Given the description of an element on the screen output the (x, y) to click on. 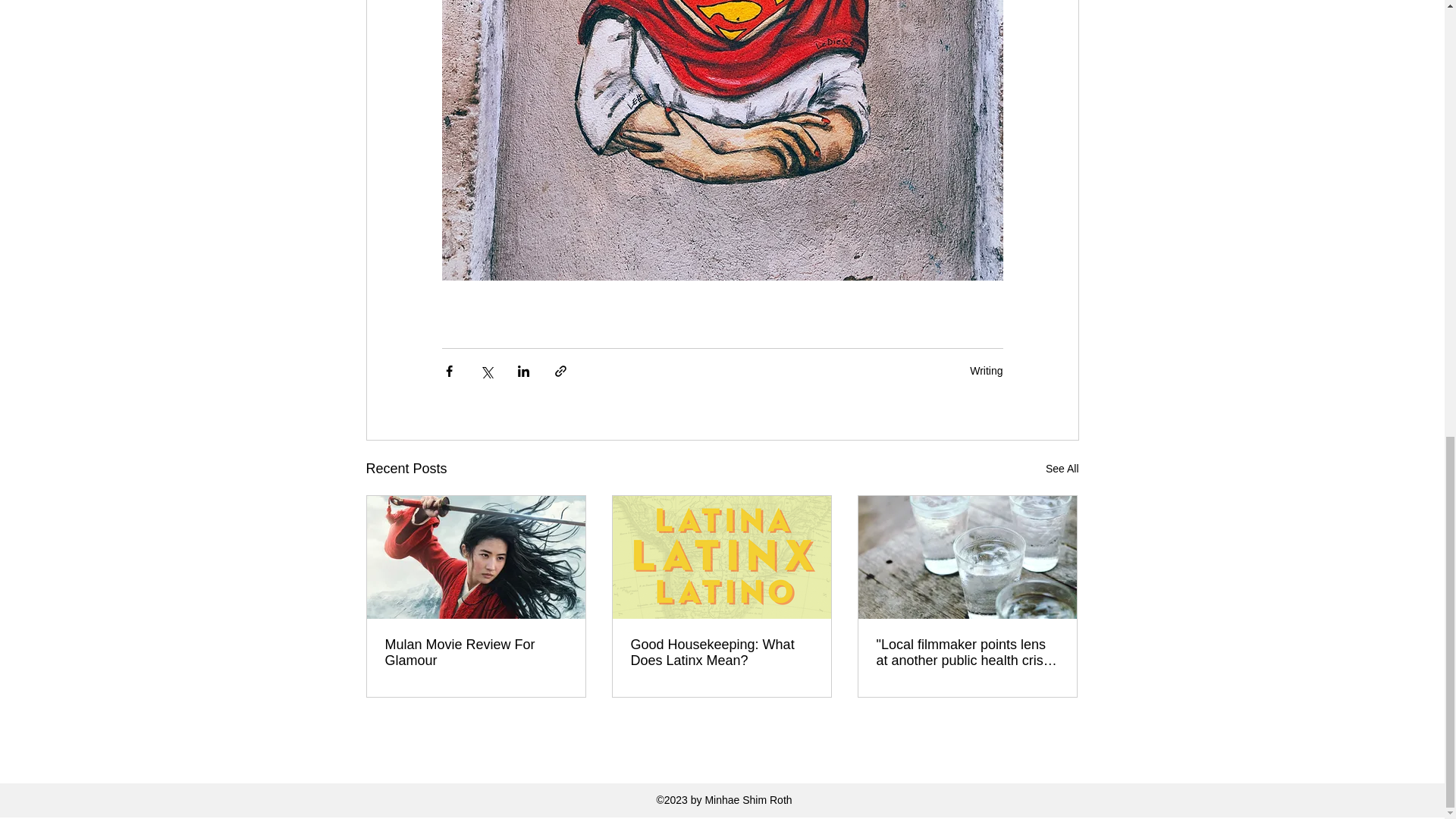
Writing (986, 370)
See All (1061, 468)
Mulan Movie Review For Glamour (476, 653)
Good Housekeeping: What Does Latinx Mean? (721, 653)
